Given the description of an element on the screen output the (x, y) to click on. 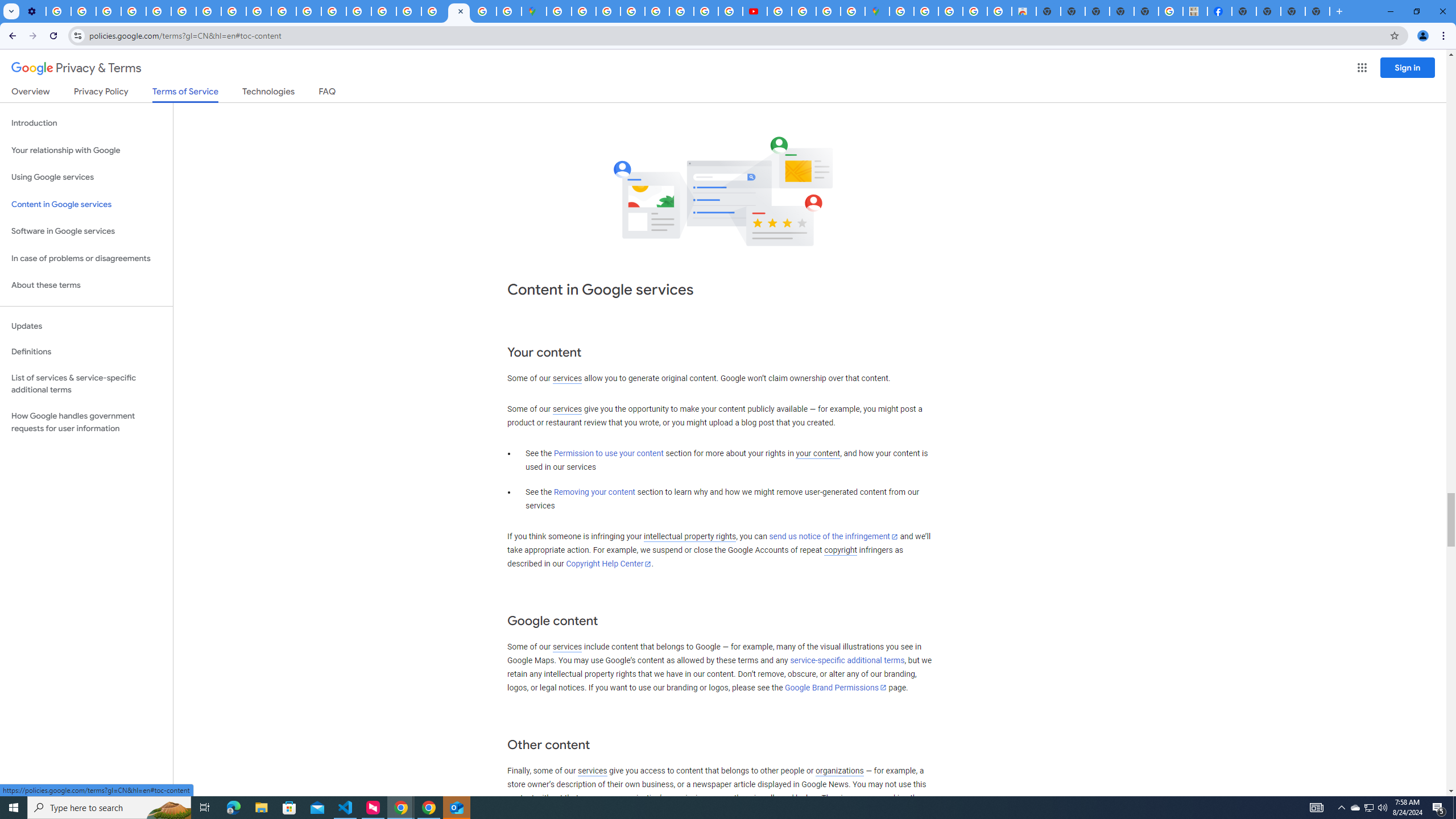
Subscriptions - YouTube (754, 11)
Your relationship with Google (86, 150)
Copyright Help Center (609, 564)
copyright (840, 550)
Removing your content (593, 492)
